Given the description of an element on the screen output the (x, y) to click on. 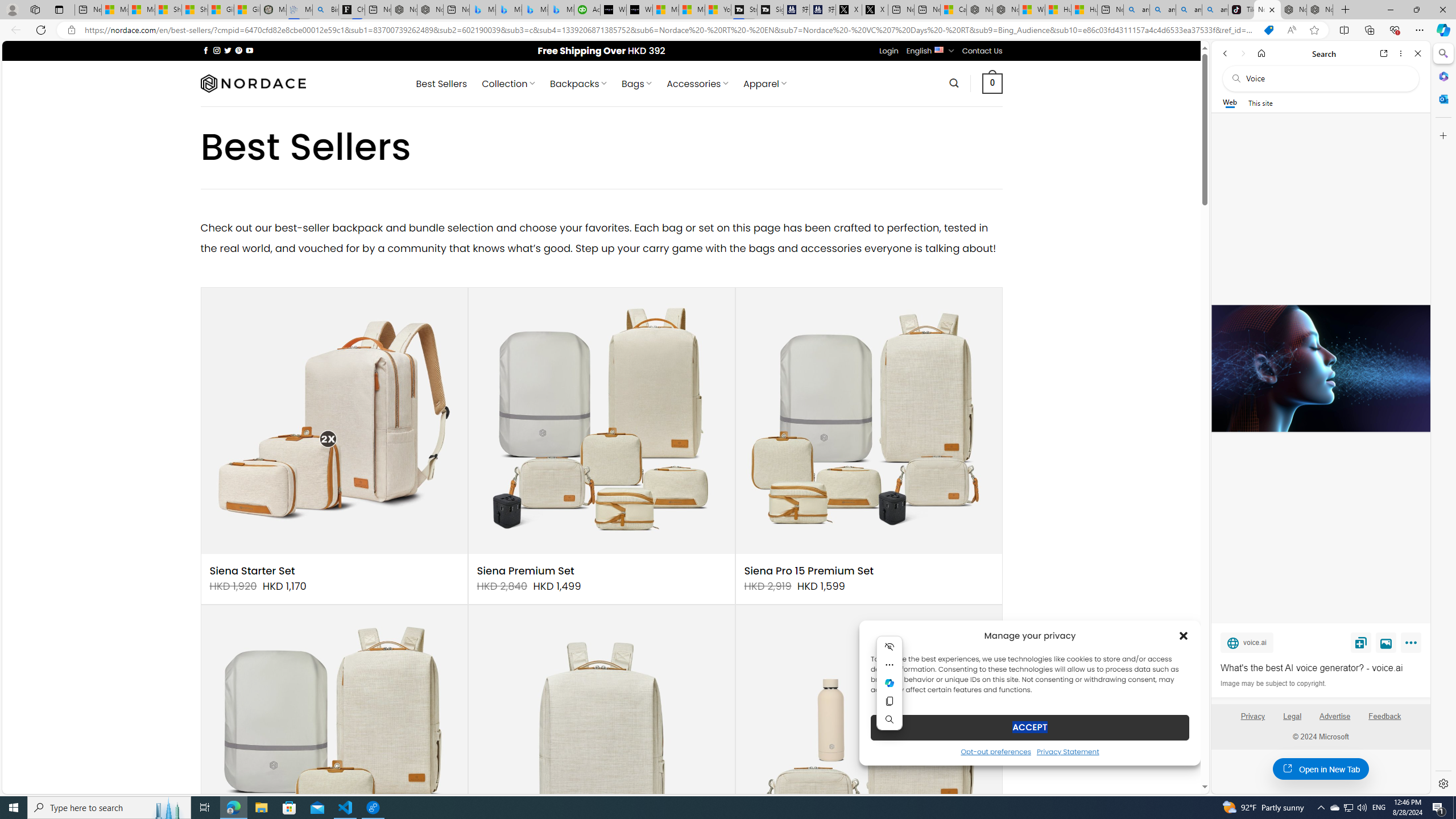
More (1413, 644)
Forward (1242, 53)
This site has coupons! Shopping in Microsoft Edge (1268, 29)
Nordace - Siena Pro 15 Essential Set (1319, 9)
Siena Premium Set (525, 571)
Microsoft Bing Travel - Shangri-La Hotel Bangkok (561, 9)
Privacy (1252, 715)
Accounting Software for Accountants, CPAs and Bookkeepers (587, 9)
Opt-out preferences (995, 750)
Advertise (1335, 715)
